Given the description of an element on the screen output the (x, y) to click on. 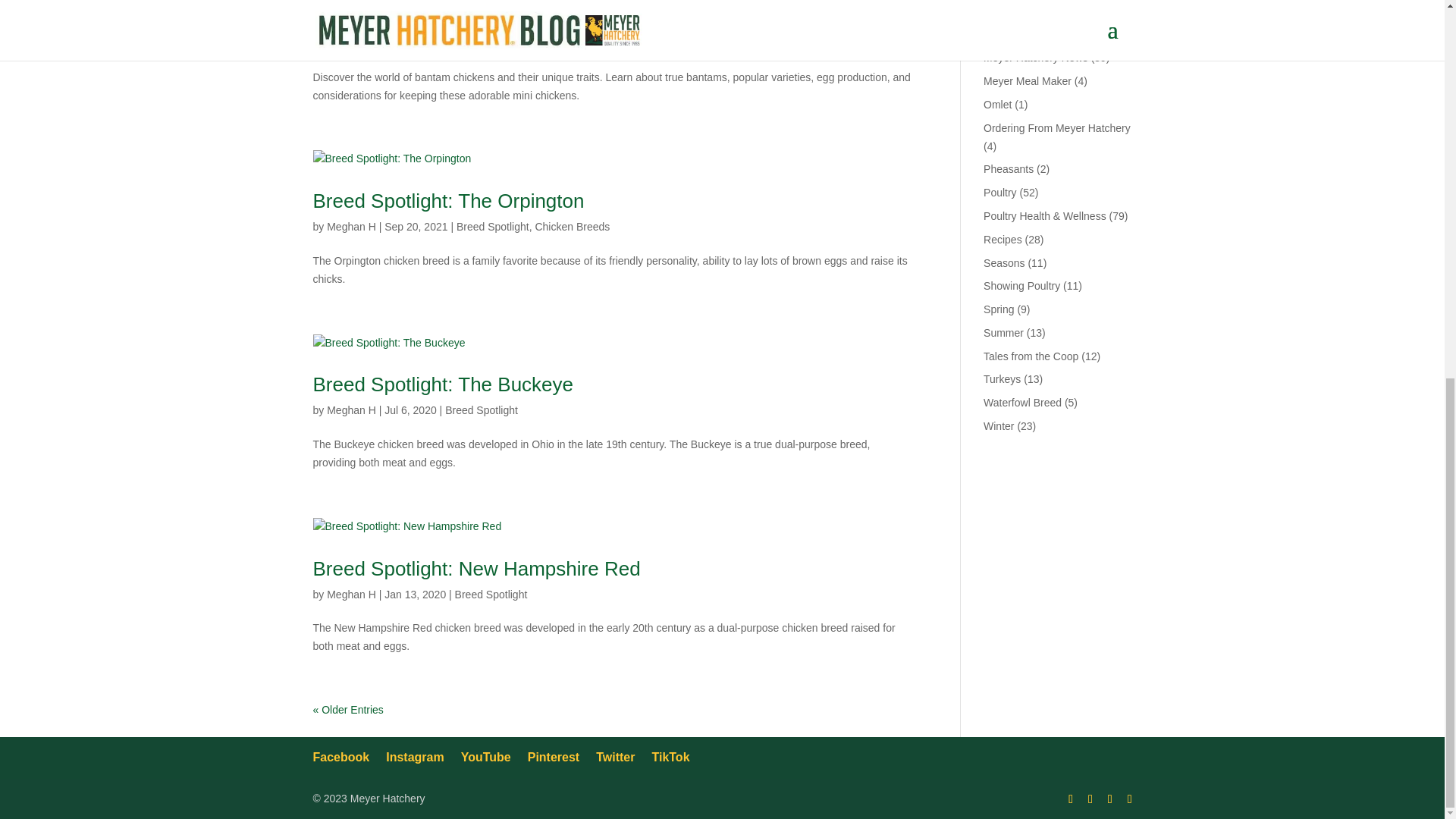
Posts by Meghan H (350, 226)
Posts by Meghan H (350, 594)
Posts by Meghan H (350, 410)
Posts by Manda H (347, 42)
